Given the description of an element on the screen output the (x, y) to click on. 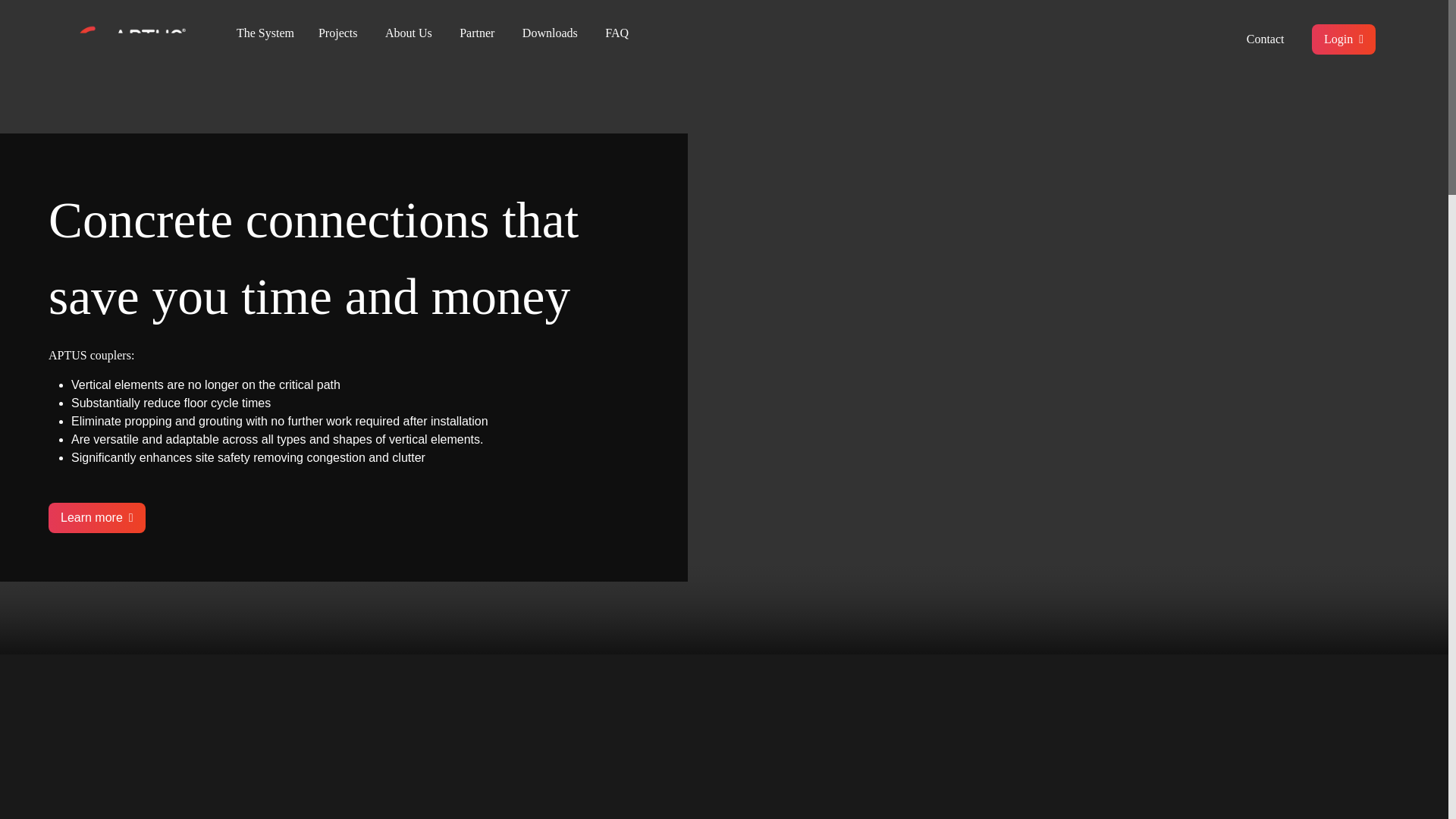
Projects (338, 32)
Contact (1265, 38)
Partner (477, 32)
Login (1343, 39)
About Us (408, 32)
Downloads (550, 32)
Learn more (96, 517)
FAQ (616, 32)
